Given the description of an element on the screen output the (x, y) to click on. 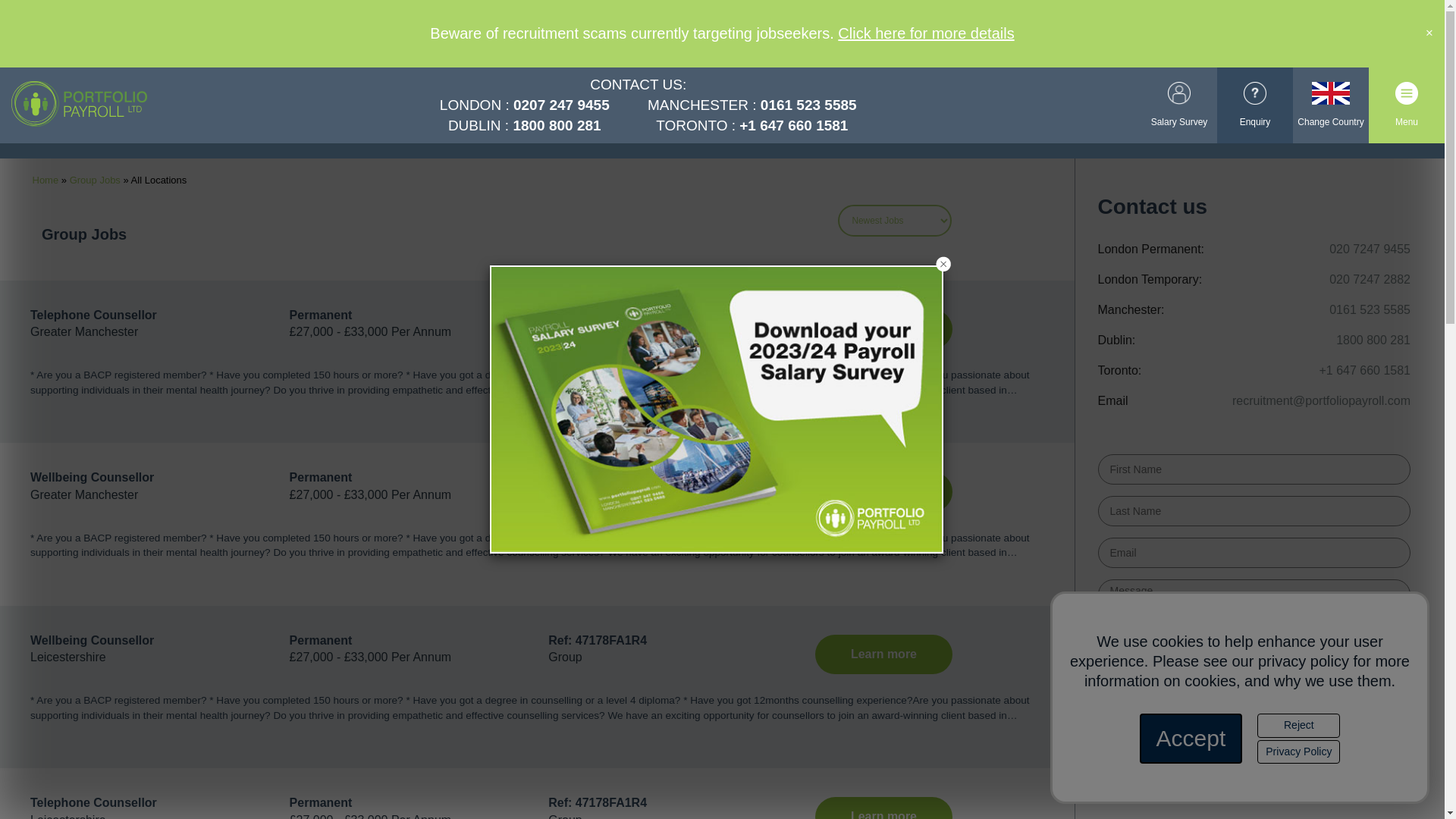
Salary Survey (1179, 97)
Enquiry (1254, 105)
Change Country (1330, 97)
View all Group Jobs (564, 331)
Click here for more details (925, 33)
View all Permanent Www.portfoliopayroll.com Jobs (320, 314)
View all Www.portfoliopayroll.com Jobs in Greater-manchester (84, 331)
View all Permanent Group Jobs (320, 477)
Portfolio (73, 105)
Enquiry (1254, 105)
Salary Survey (1179, 97)
0207 247 9455 (561, 105)
1800 800 281 (555, 125)
Switch Country (1330, 97)
0161 523 5585 (808, 105)
